Given the description of an element on the screen output the (x, y) to click on. 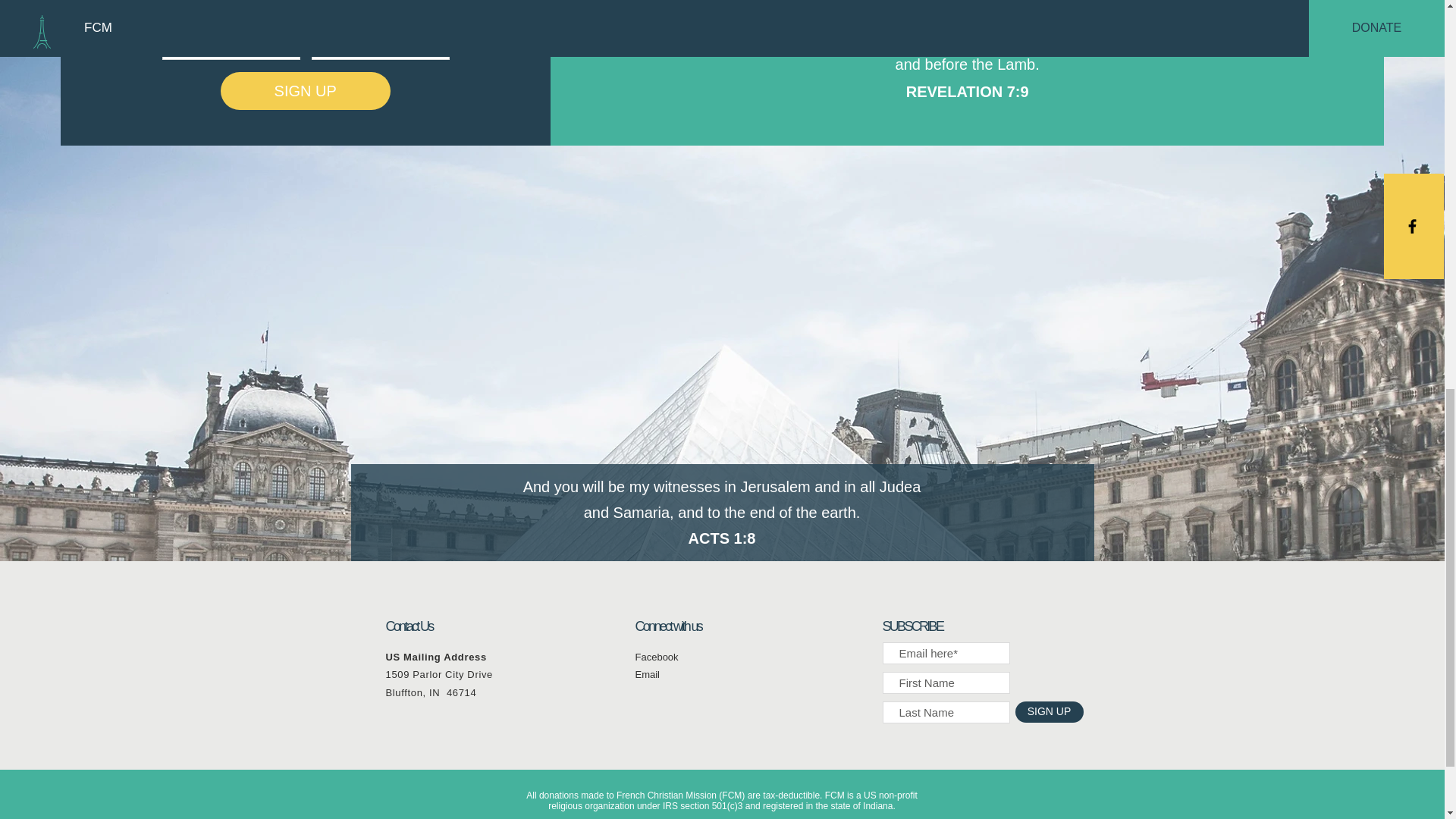
Facebook (656, 656)
Email (647, 674)
SIGN UP (305, 90)
SIGN UP (1048, 711)
